Given the description of an element on the screen output the (x, y) to click on. 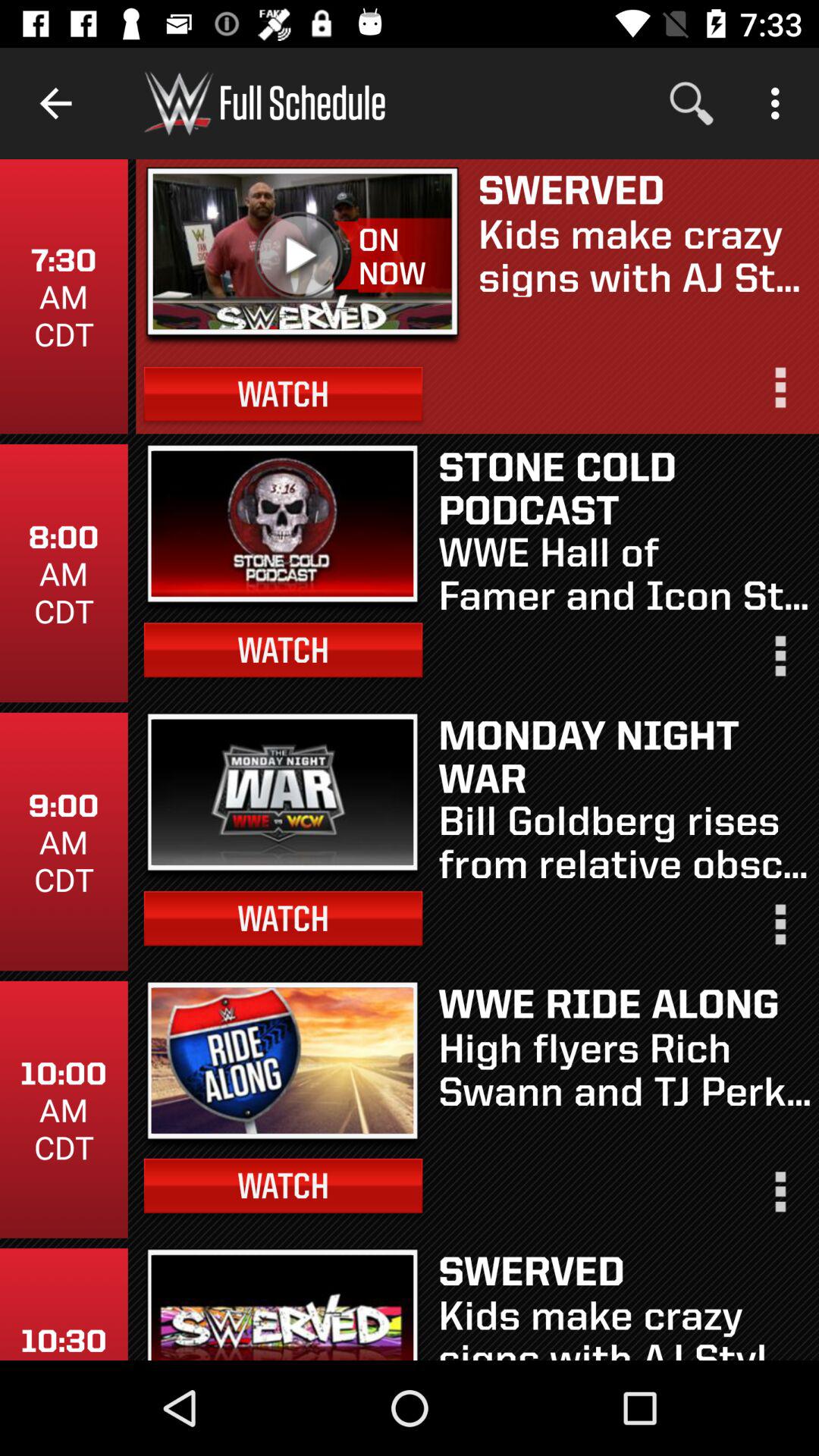
open icon above the watch (302, 256)
